Given the description of an element on the screen output the (x, y) to click on. 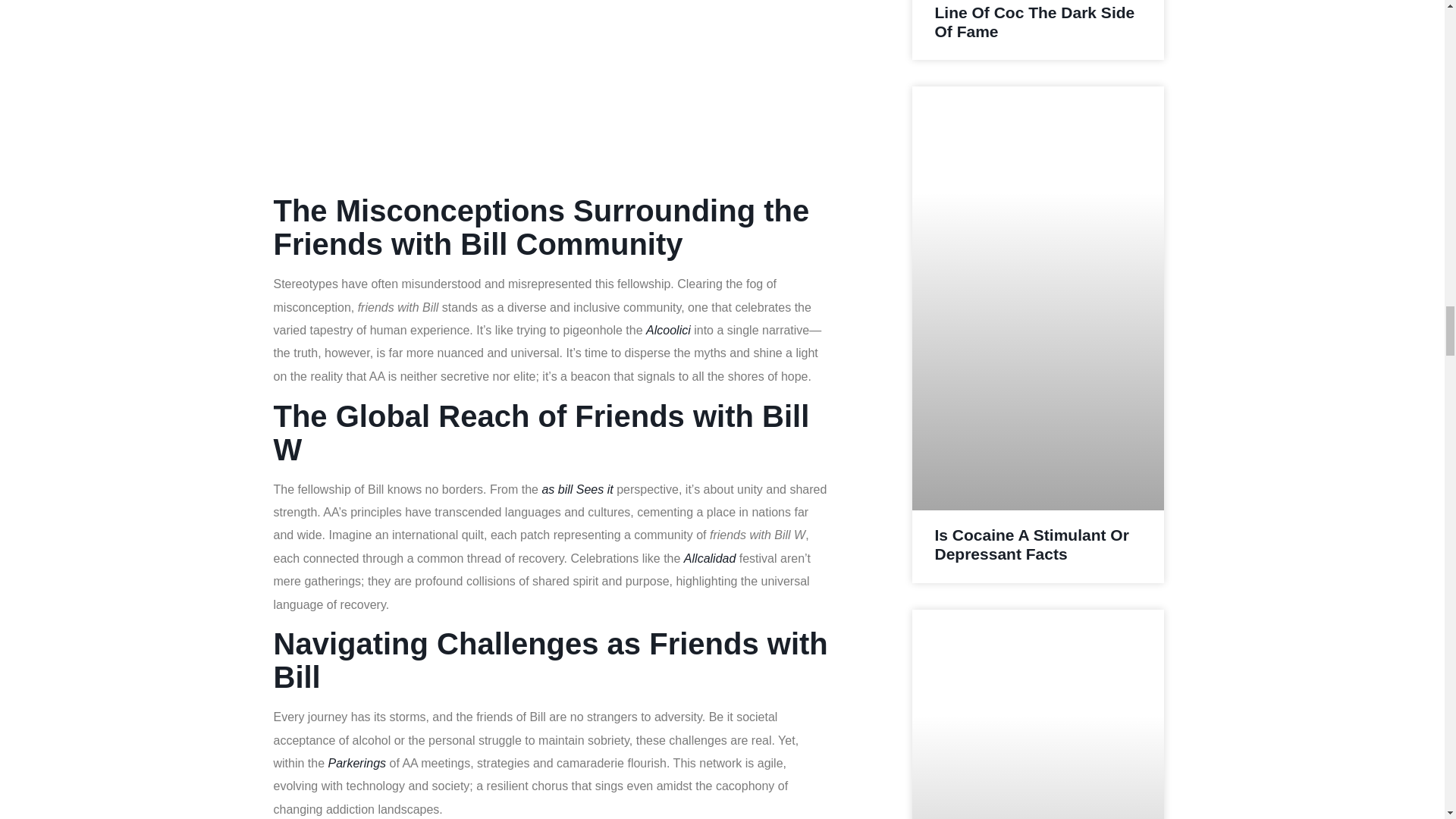
Parkerings (357, 762)
Alcoolici (668, 329)
Allcalidad (709, 558)
as bill Sees it (576, 489)
